Given the description of an element on the screen output the (x, y) to click on. 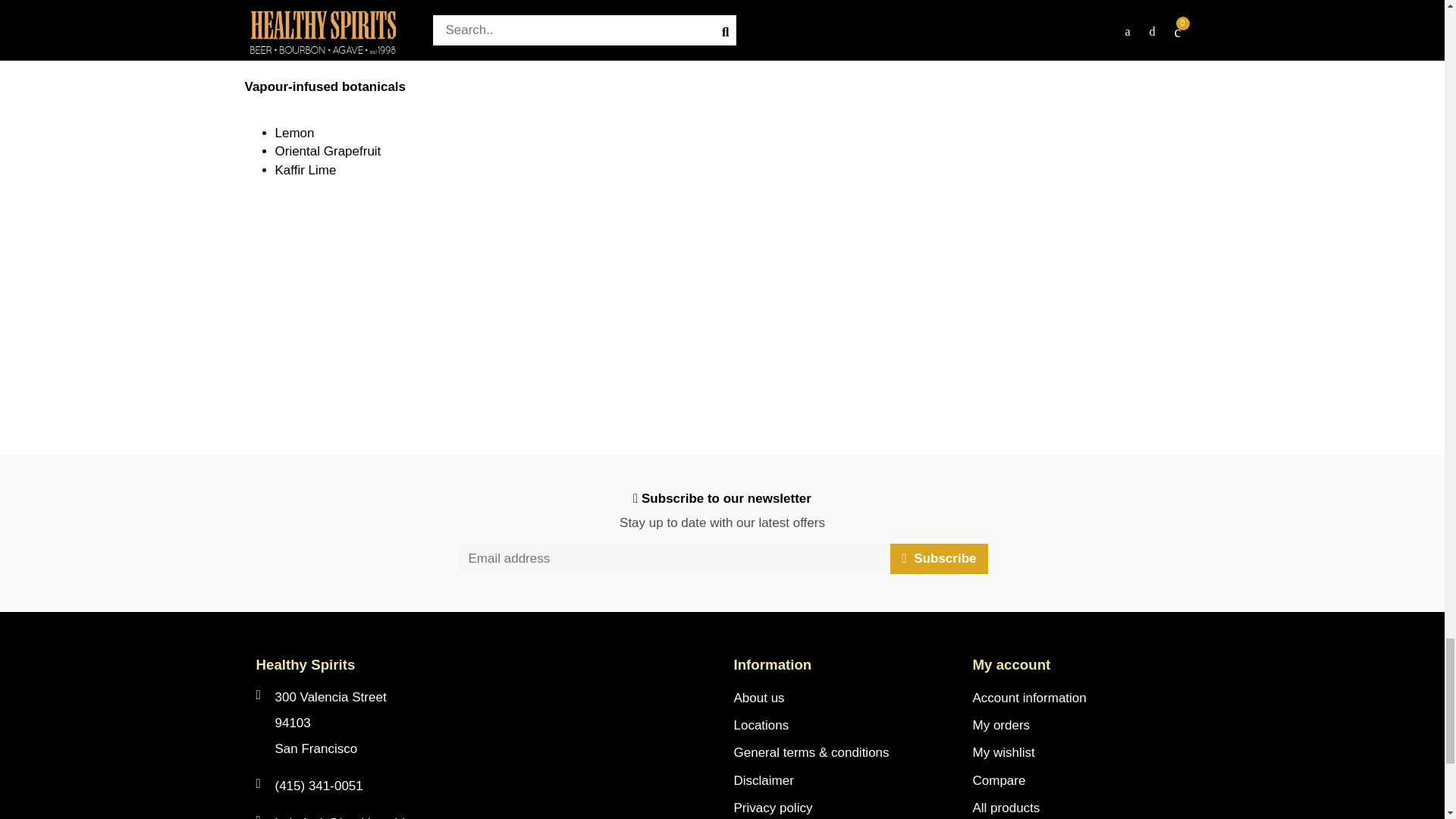
Compare (998, 780)
About us (758, 697)
Locations (761, 725)
Account information (1029, 697)
My orders (1000, 725)
Disclaimer (763, 780)
My wishlist (1002, 752)
Privacy policy (772, 806)
